Given the description of an element on the screen output the (x, y) to click on. 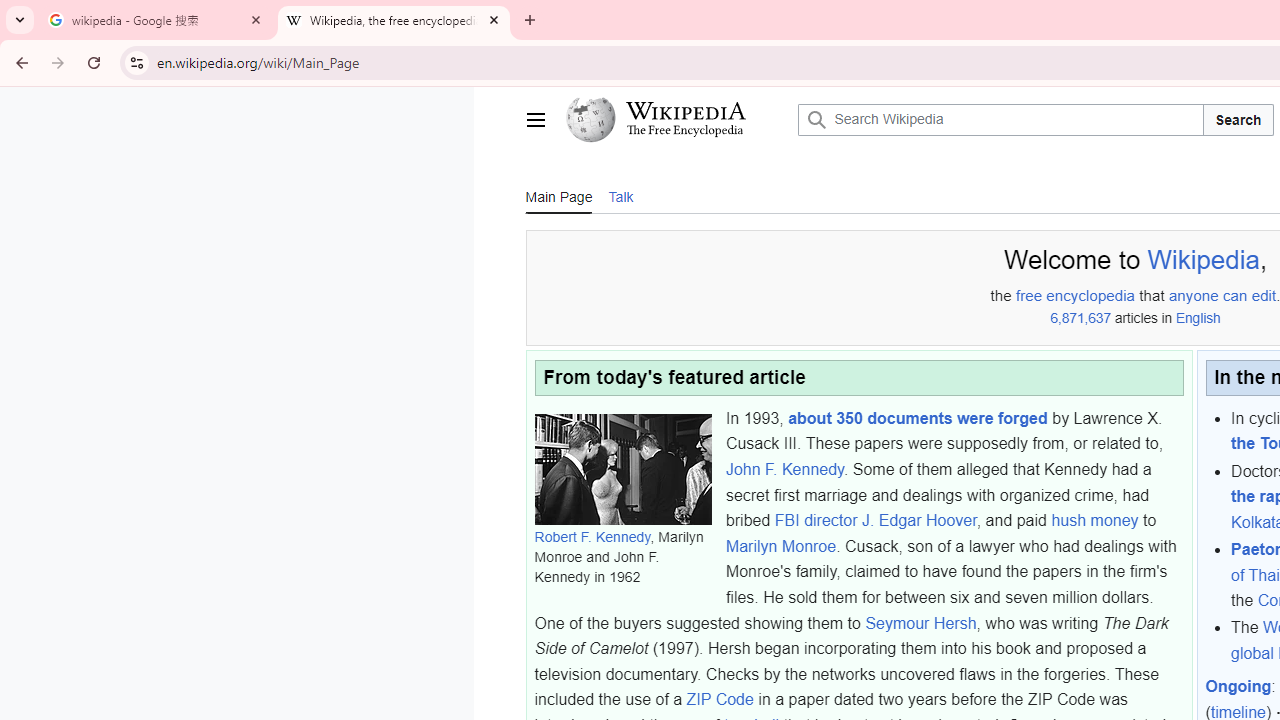
Wikipedia The Free Encyclopedia (676, 119)
FBI director (815, 520)
6,871,637 (1080, 318)
Search Wikipedia (1000, 119)
Ongoing (1238, 687)
ZIP Code (719, 700)
The Free Encyclopedia (685, 131)
Seymour Hersh (920, 623)
encyclopedia (1090, 296)
Robert F. Kennedy (592, 537)
about 350 documents were forged (918, 417)
Wikipedia, the free encyclopedia (394, 20)
